Given the description of an element on the screen output the (x, y) to click on. 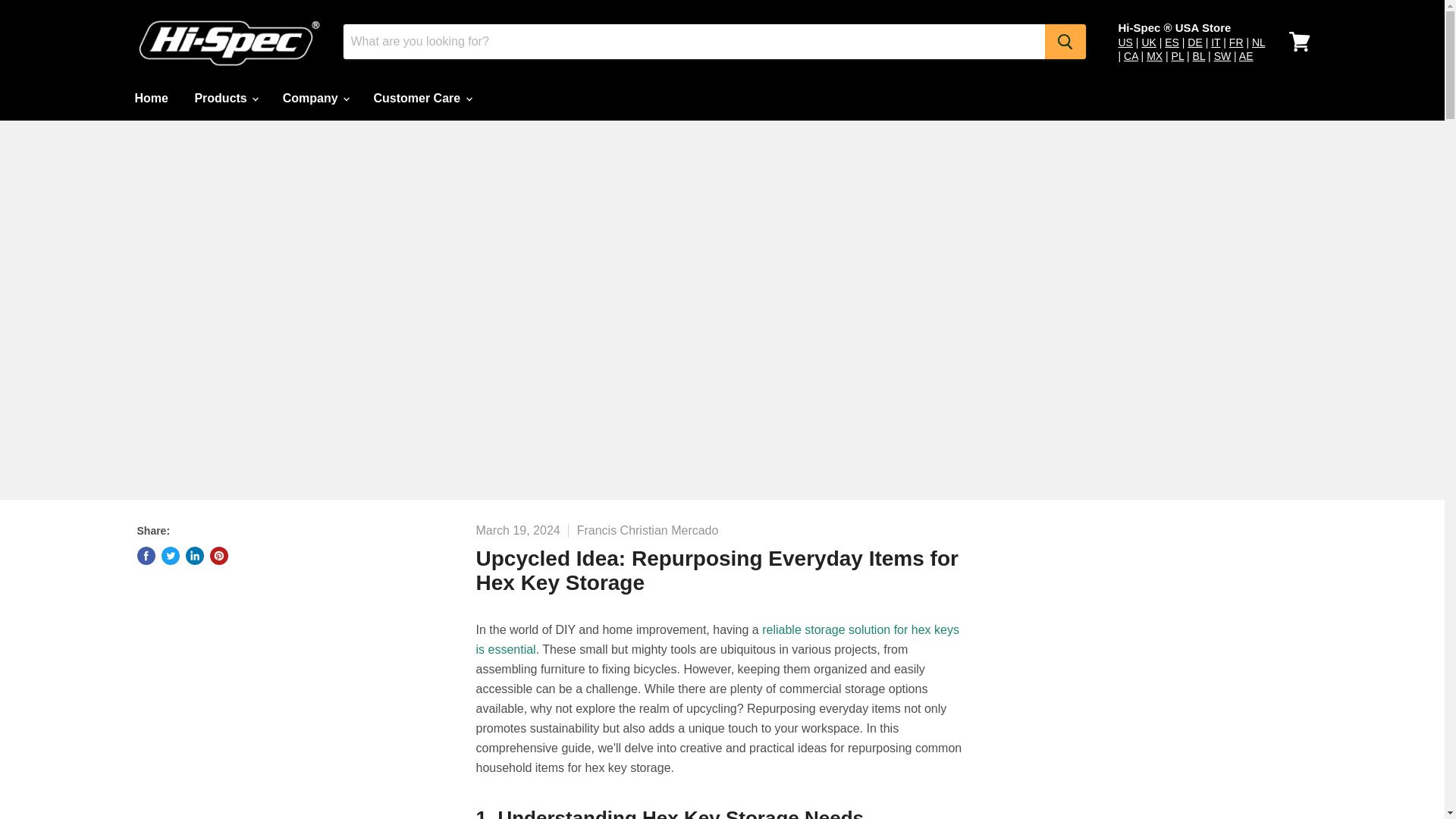
Amazon DE (1195, 42)
CA (1131, 55)
ES (1171, 42)
US (1125, 42)
UK (1148, 42)
Amazon US (1125, 42)
DE (1195, 42)
Amazon ES (1171, 42)
NL (1258, 42)
MX (1154, 55)
